Given the description of an element on the screen output the (x, y) to click on. 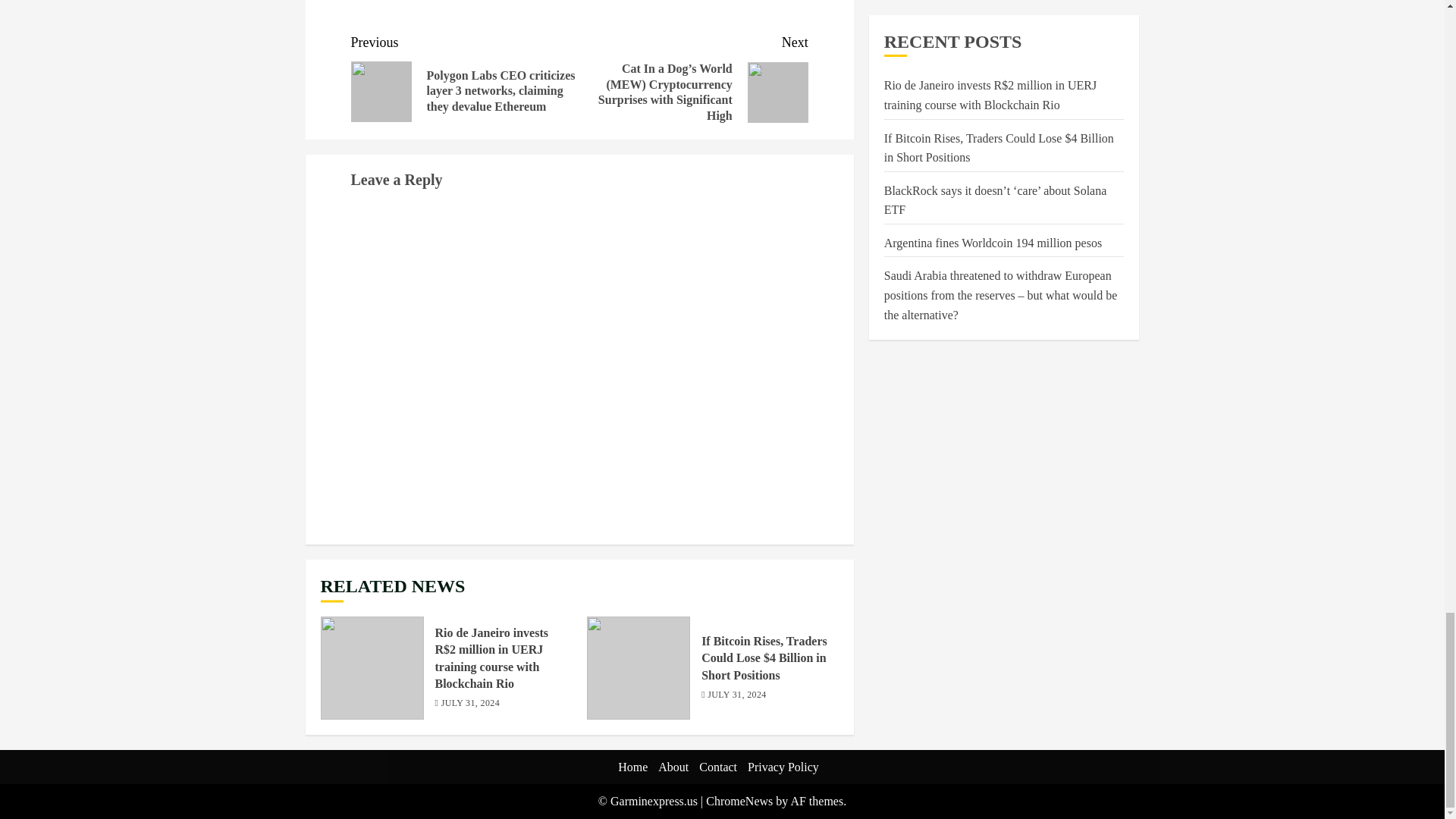
Privacy Policy (783, 766)
About (673, 766)
JULY 31, 2024 (470, 703)
ChromeNews (739, 800)
Home (632, 766)
Contact (717, 766)
JULY 31, 2024 (736, 695)
